Given the description of an element on the screen output the (x, y) to click on. 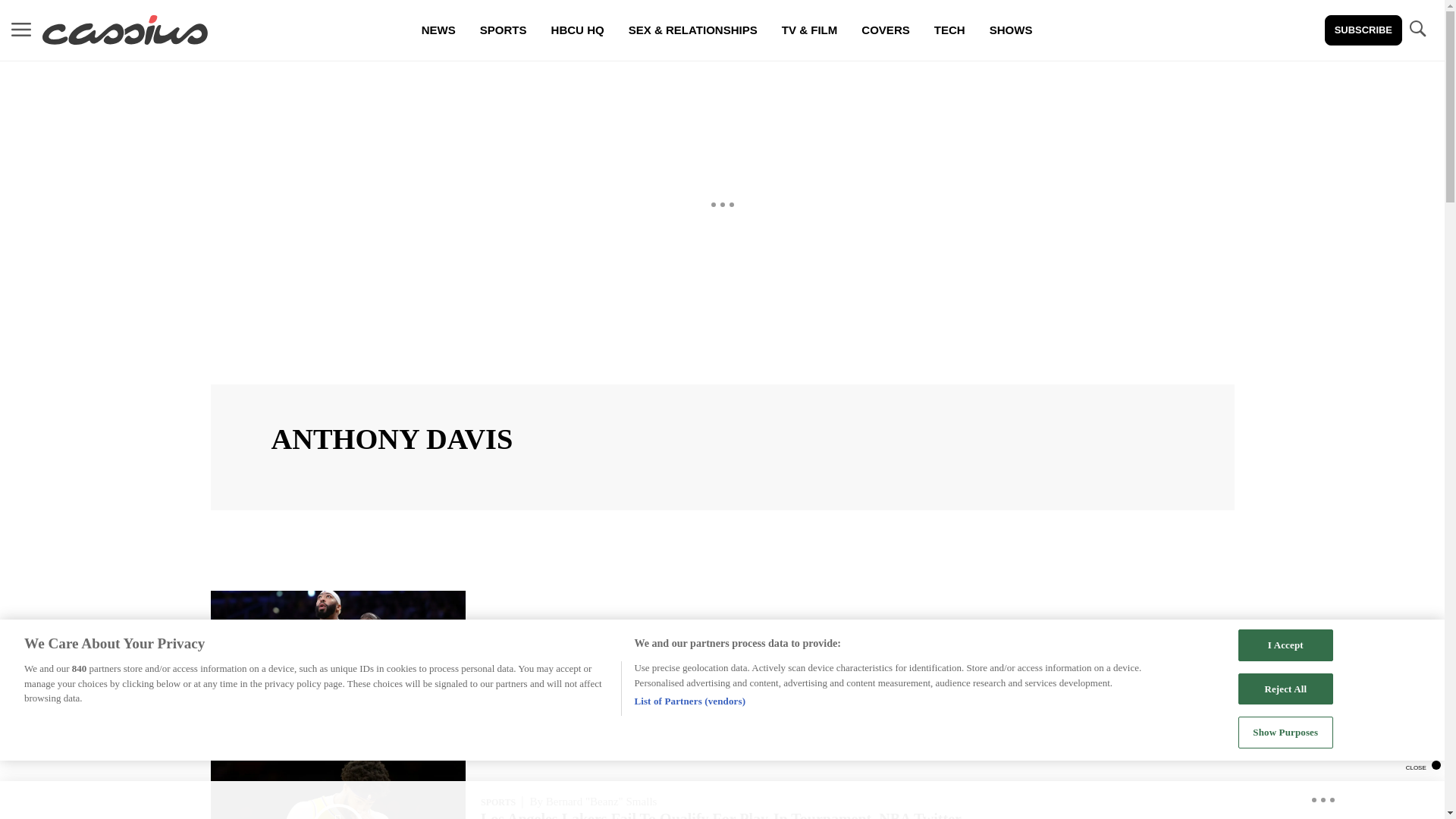
SHOWS (1010, 30)
SPORTS (497, 801)
Bernard "Beanz" Smalls (602, 801)
TOGGLE SEARCH (1417, 28)
MENU (20, 29)
HBCU HQ (576, 30)
SUBSCRIBE (1363, 30)
Bernard "Beanz" Smalls (602, 639)
COVERS (884, 30)
NEWS (438, 30)
Media Playlist (338, 811)
MENU (20, 30)
TOGGLE SEARCH (1417, 30)
